Given the description of an element on the screen output the (x, y) to click on. 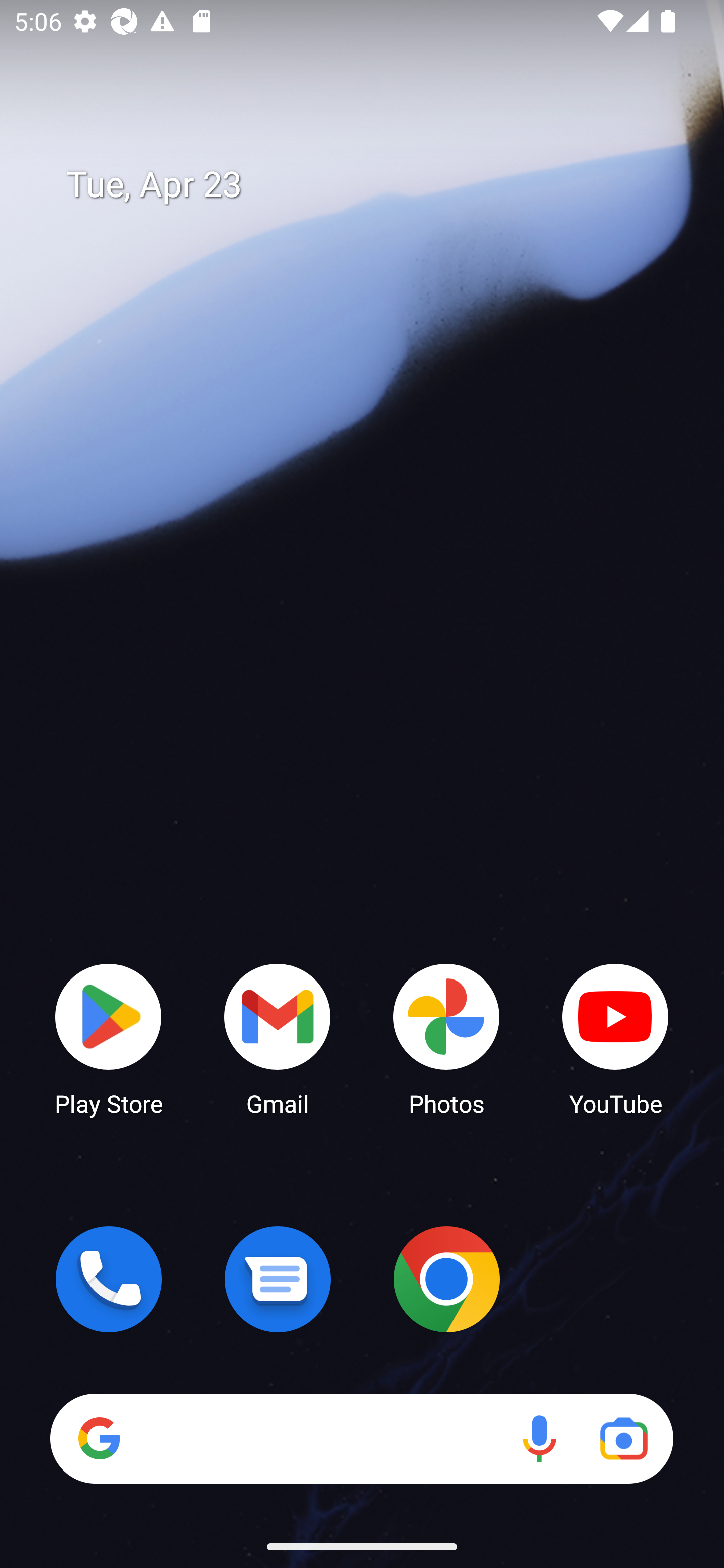
Tue, Apr 23 (375, 184)
Play Store (108, 1038)
Gmail (277, 1038)
Photos (445, 1038)
YouTube (615, 1038)
Phone (108, 1279)
Messages (277, 1279)
Chrome (446, 1279)
Search Voice search Google Lens (361, 1438)
Voice search (539, 1438)
Google Lens (623, 1438)
